Given the description of an element on the screen output the (x, y) to click on. 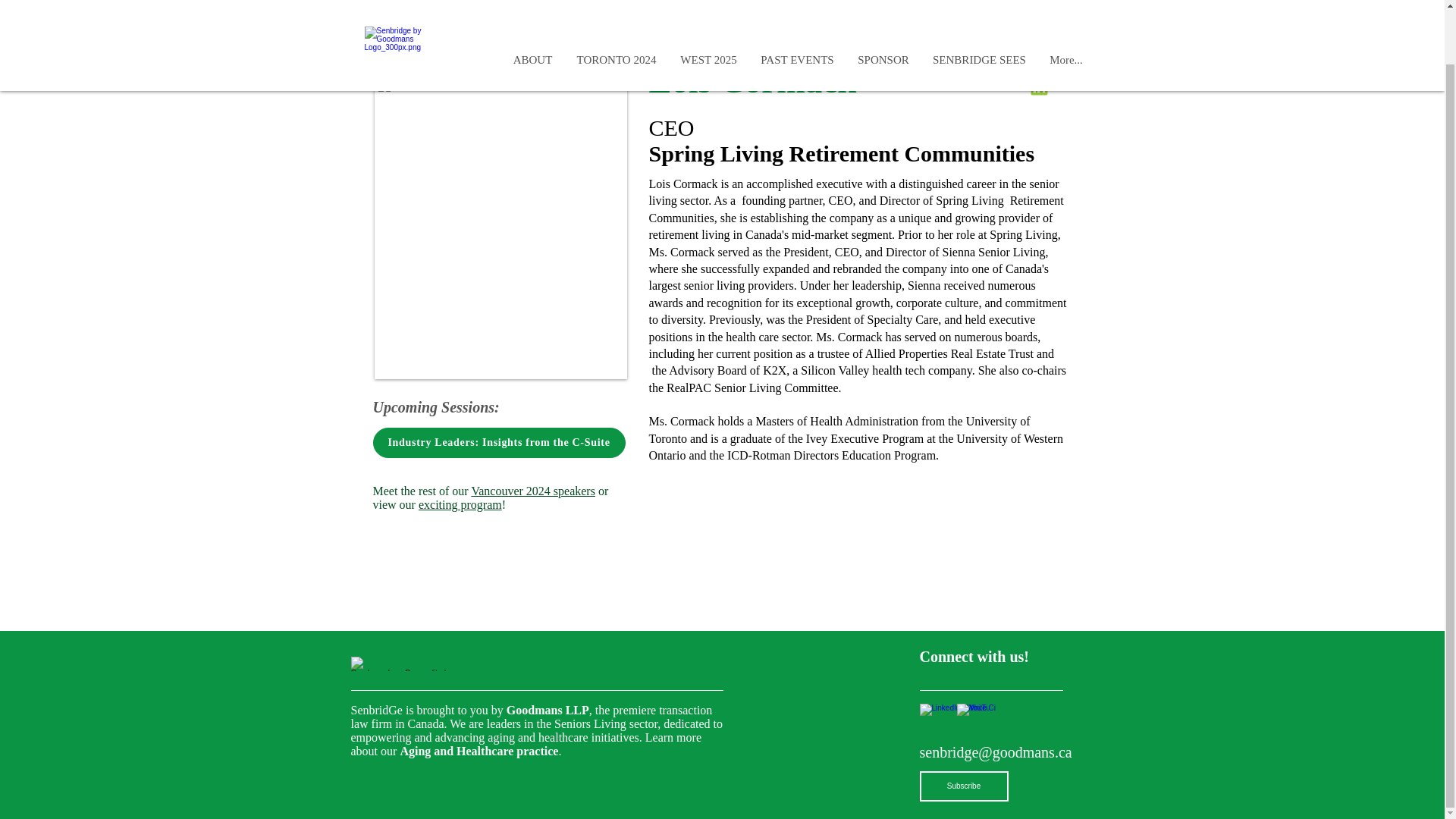
TORONTO 2024 (616, 6)
SENBRIDGE SEES (978, 6)
Goodmans LLP (547, 709)
Aging and Healthcare practice. (479, 750)
Lois Cormack (500, 227)
Industry Leaders: Insights from the C-Suite (499, 442)
ABOUT (532, 6)
PAST EVENTS (797, 6)
Vancouver 2024 speakers (532, 490)
WEST 2025 (708, 6)
Subscribe (962, 786)
exciting program (460, 504)
SPONSOR (883, 6)
